Given the description of an element on the screen output the (x, y) to click on. 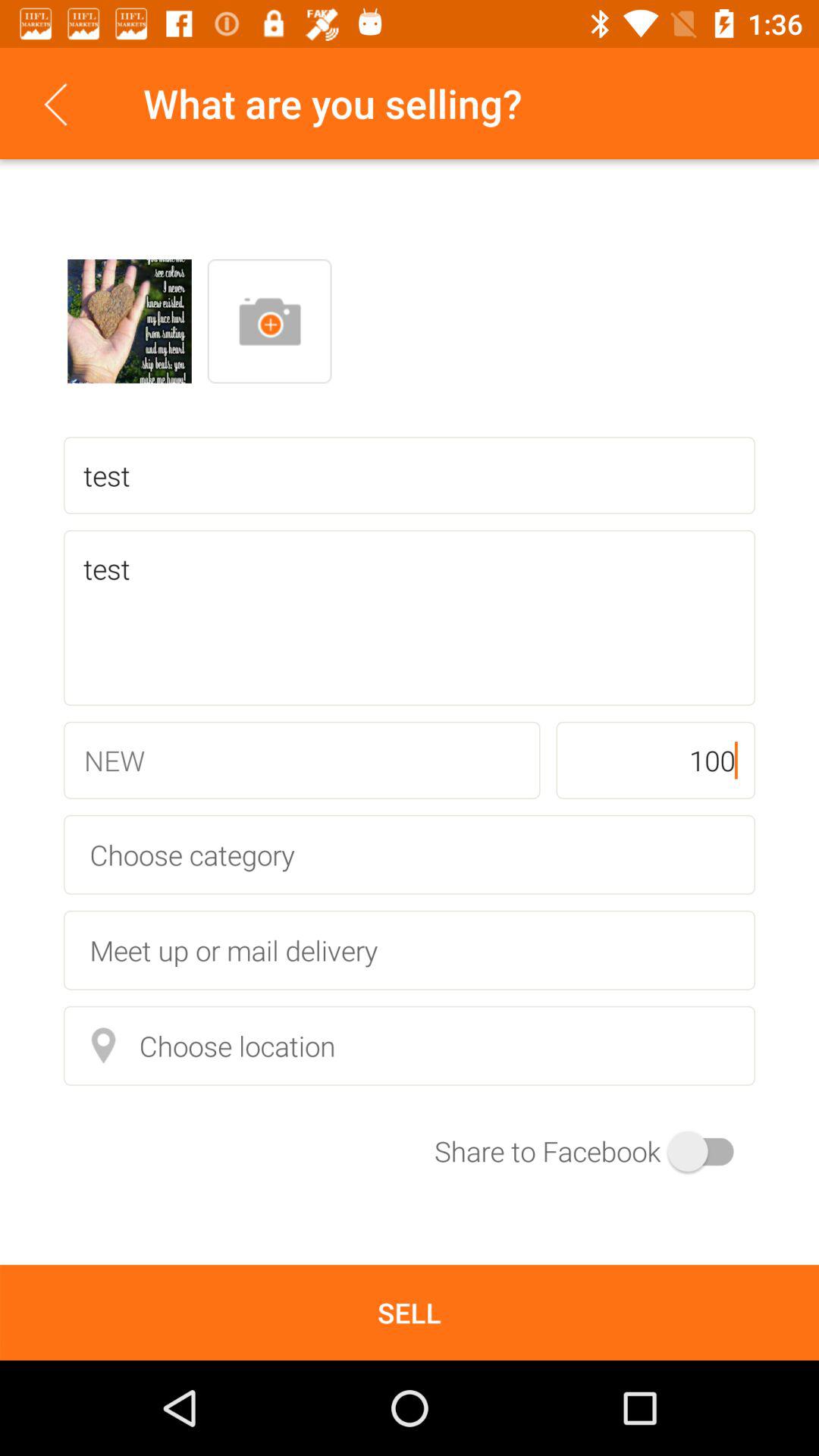
add a picture (269, 320)
